Given the description of an element on the screen output the (x, y) to click on. 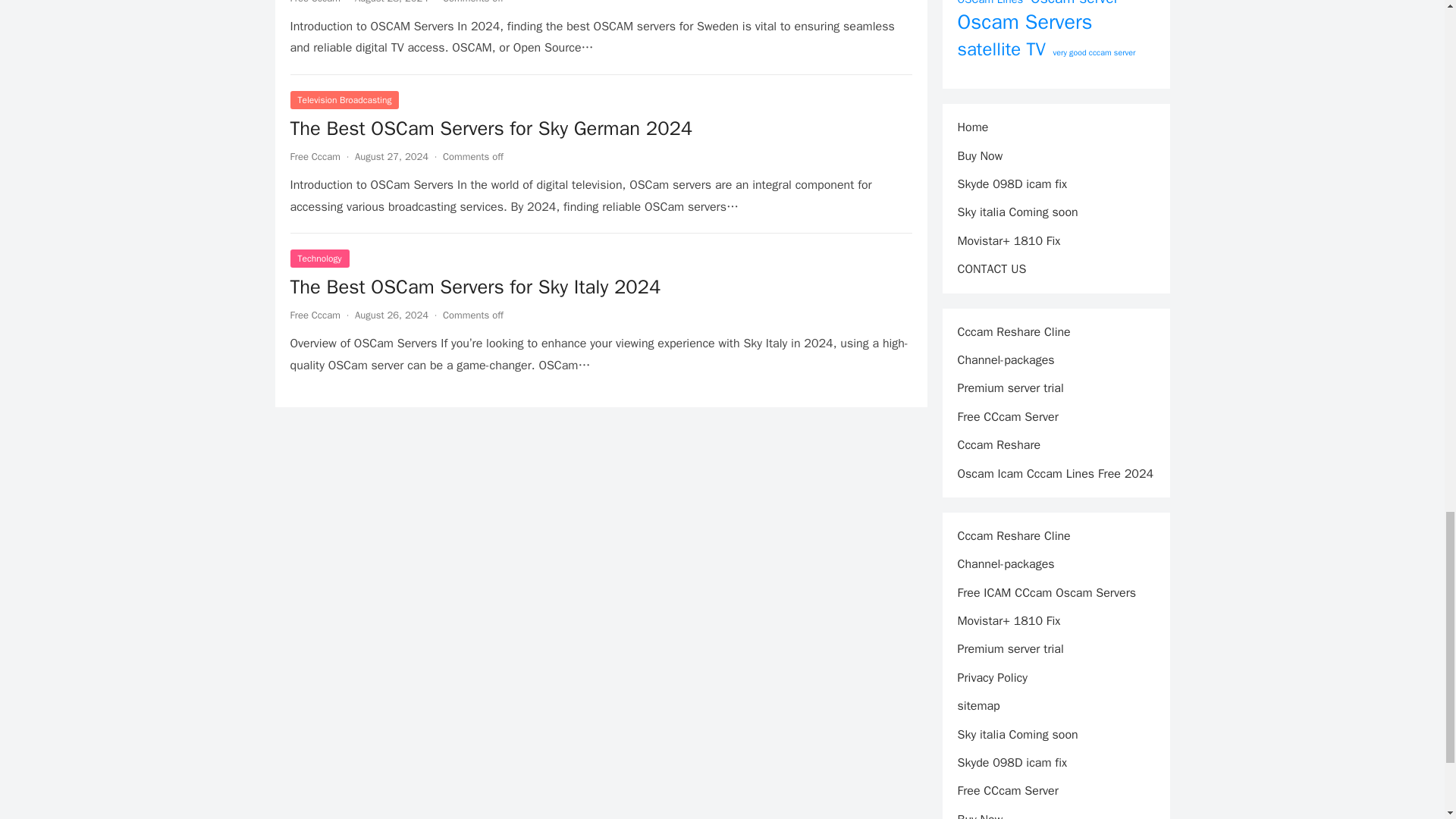
Posts by Free Cccam (314, 155)
Posts by Free Cccam (314, 314)
Posts by Free Cccam (314, 2)
Free Cccam (314, 2)
